Given the description of an element on the screen output the (x, y) to click on. 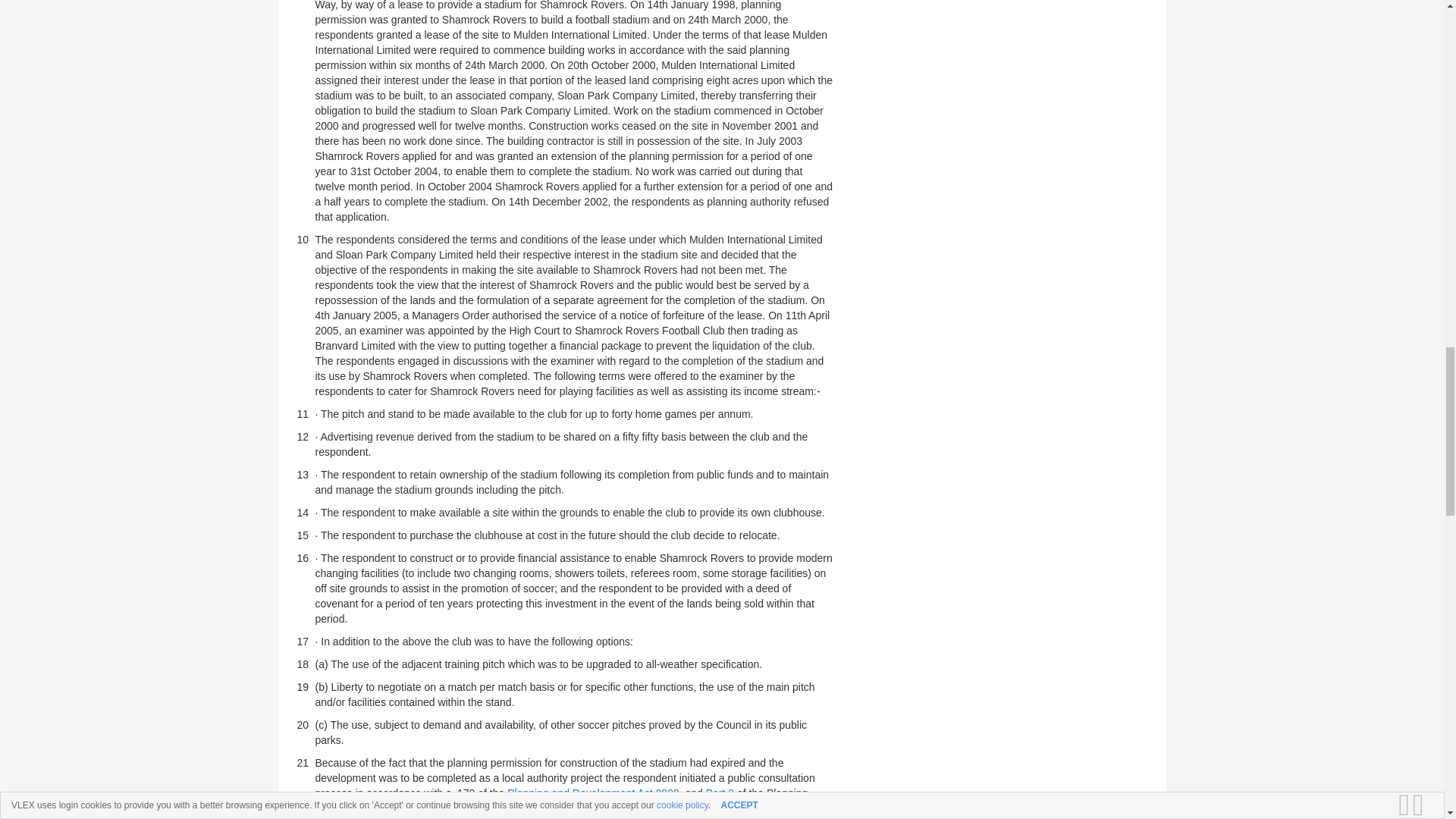
Planning and Development Act 2000 (592, 793)
